Given the description of an element on the screen output the (x, y) to click on. 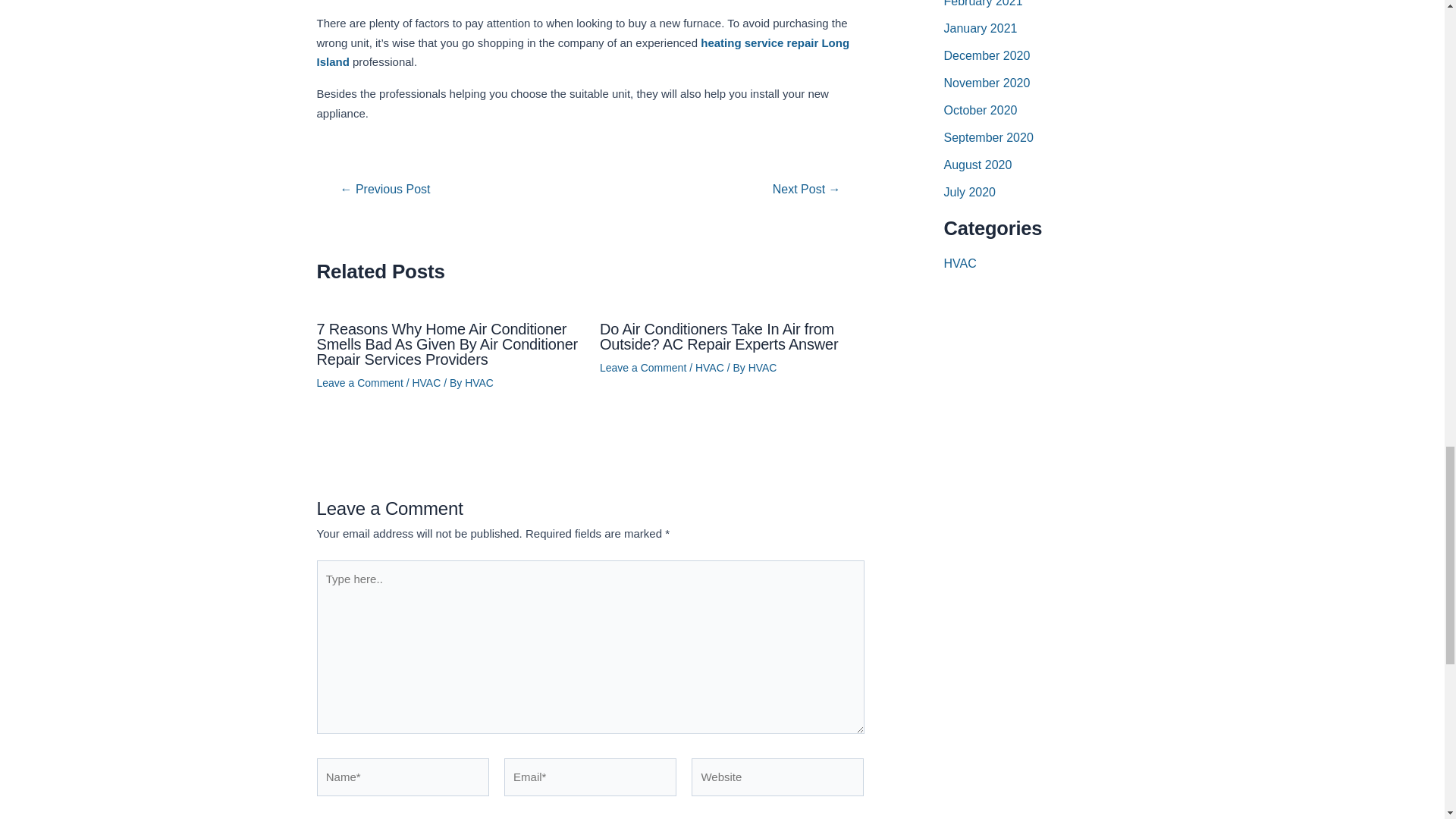
View all posts by HVAC (762, 367)
View all posts by HVAC (478, 382)
Can Furnace Be Installed In Attic? (384, 189)
Why Does My Heat Pump Run So Often? (806, 189)
